Given the description of an element on the screen output the (x, y) to click on. 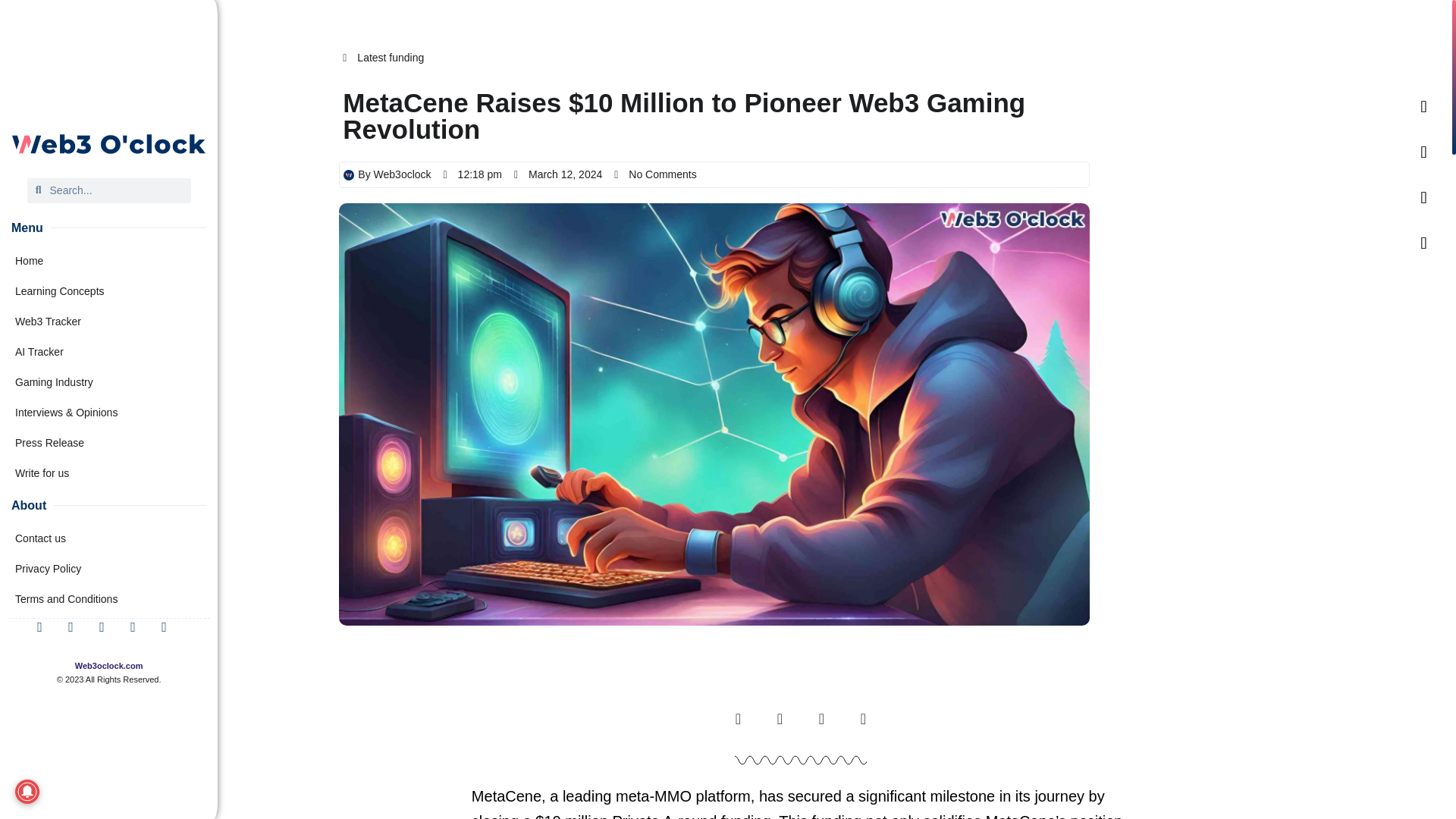
Web3oclock.com (108, 665)
March 12, 2024 (557, 174)
Skip to content (15, 7)
Latest funding (389, 57)
Home (108, 260)
Press Release (108, 442)
Web3 Tracker (108, 321)
AI Tracker (108, 351)
No Comments (654, 174)
Gaming Industry (108, 381)
